Given the description of an element on the screen output the (x, y) to click on. 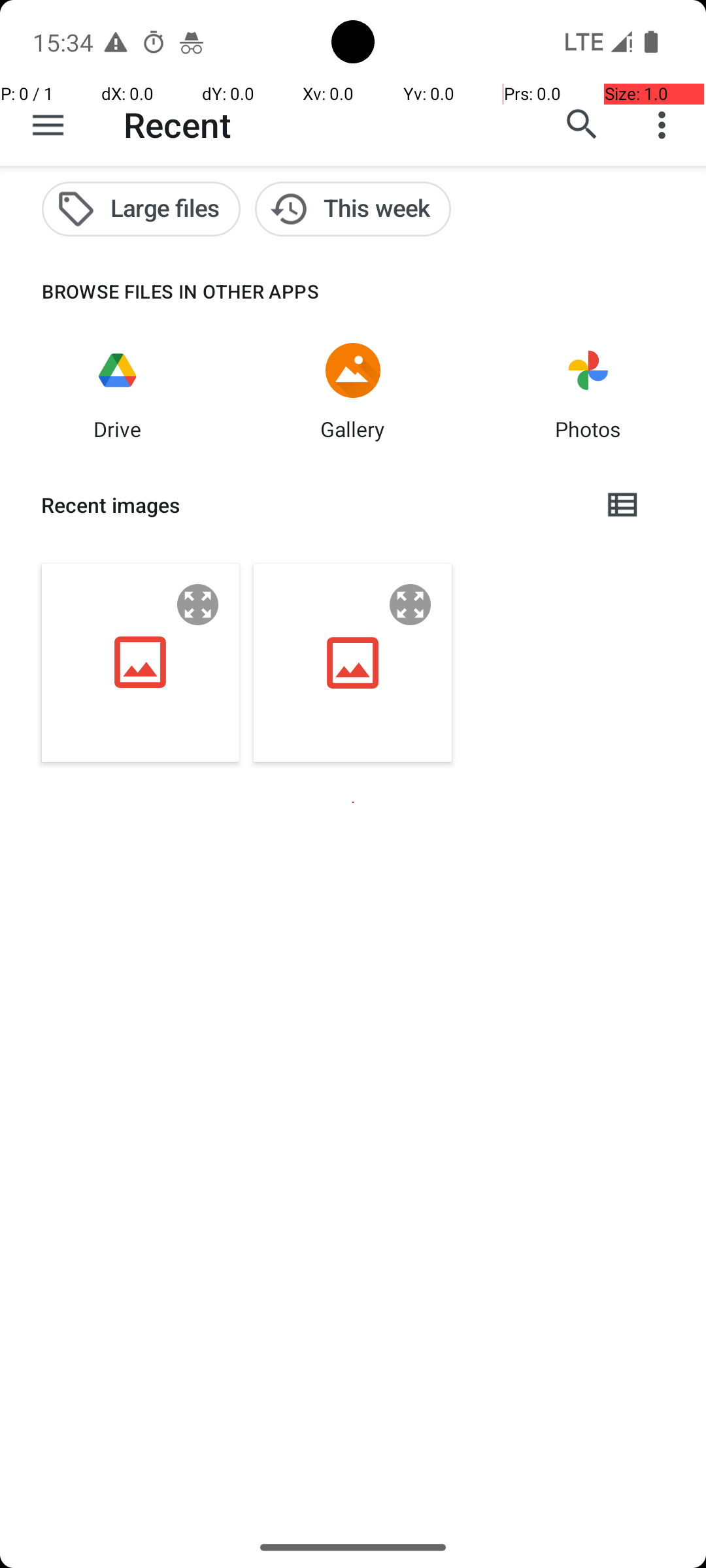
BROWSE FILES IN OTHER APPS Element type: android.widget.TextView (159, 291)
Recent images Element type: android.widget.TextView (311, 504)
receipt_fair_tiger_backup.jpg, 13.59 kB, Sep 13, 2024 Element type: android.widget.LinearLayout (140, 662)
IMG_20231015_153417.jpg, 145 kB, 15:34 Element type: android.widget.LinearLayout (352, 662)
Preview the file receipt_fair_tiger_backup.jpg Element type: android.widget.FrameLayout (197, 604)
Preview the file IMG_20231015_153417.jpg Element type: android.widget.FrameLayout (410, 604)
Drive Element type: android.widget.TextView (117, 428)
Gallery Element type: android.widget.TextView (352, 428)
